Given the description of an element on the screen output the (x, y) to click on. 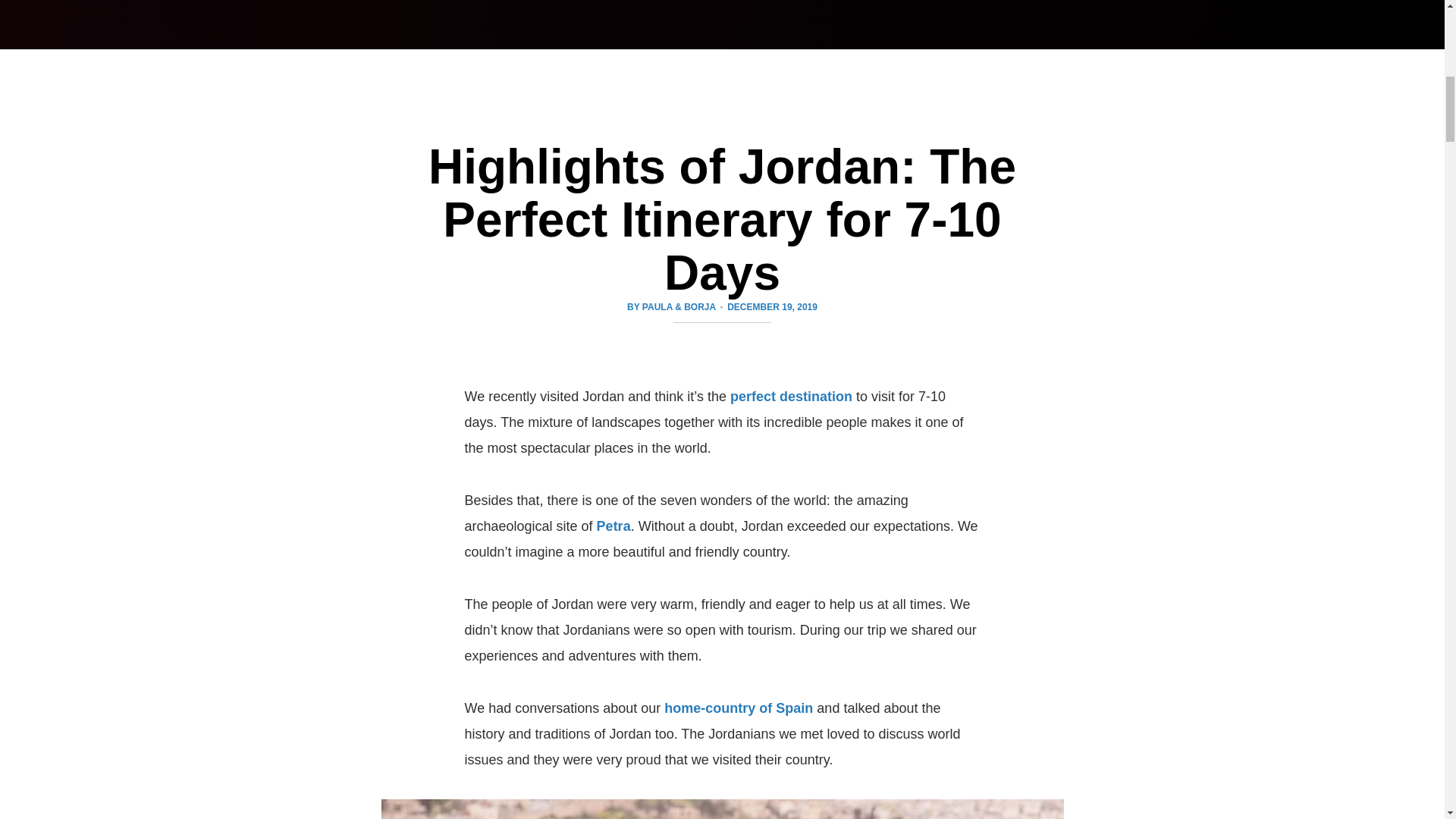
home-country of Spain (737, 708)
DECEMBER 19, 2019 (771, 306)
Petra (613, 525)
perfect destination (790, 396)
3:05 pm (771, 306)
